Given the description of an element on the screen output the (x, y) to click on. 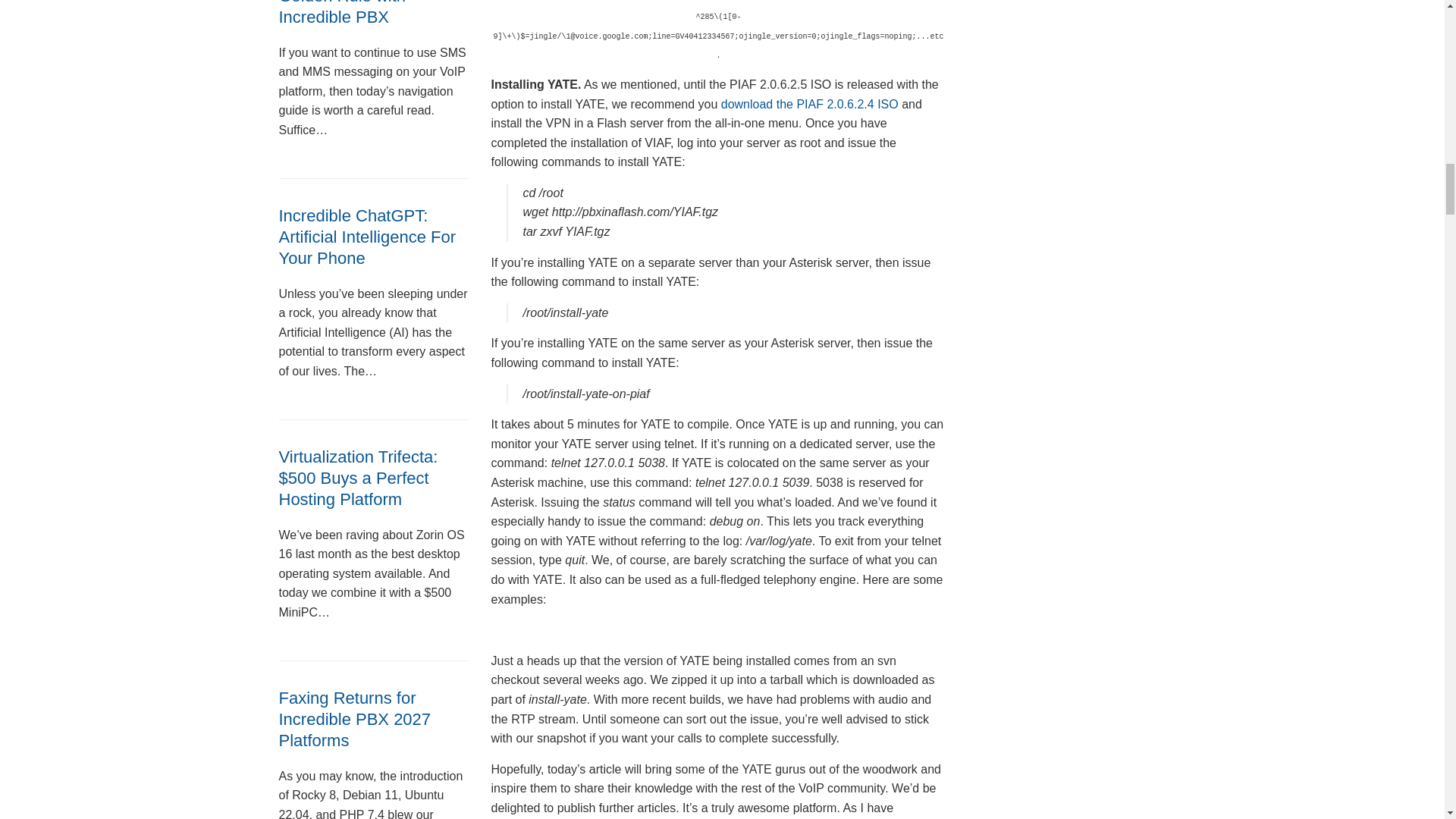
VoIP Messaging and The Golden Rule with Incredible PBX (371, 13)
Incredible ChatGPT: Artificial Intelligence For Your Phone (368, 236)
Faxing Returns for Incredible PBX 2027 Platforms (354, 719)
